Given the description of an element on the screen output the (x, y) to click on. 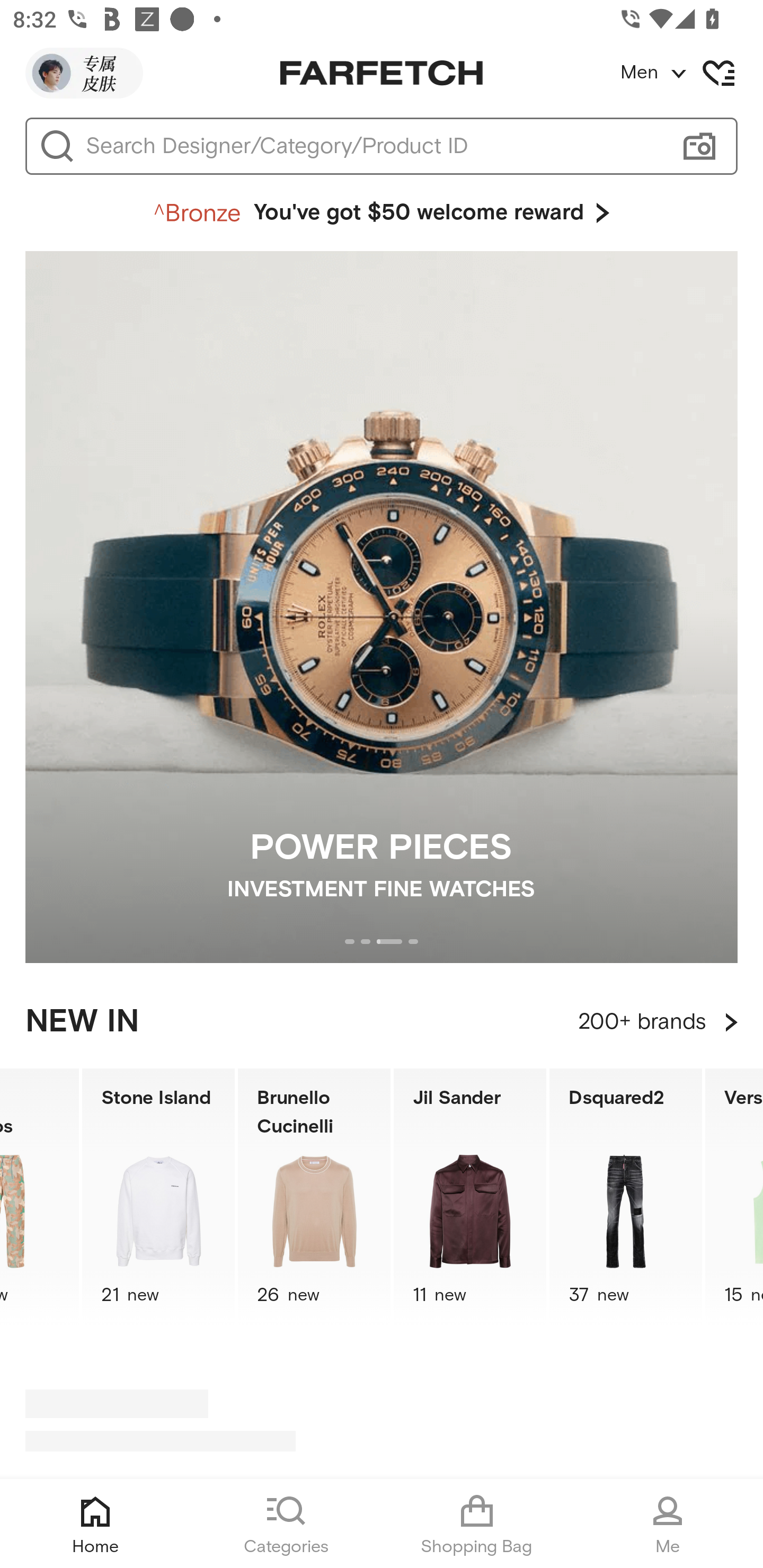
Men (691, 72)
Search Designer/Category/Product ID (373, 146)
You've got $50 welcome reward (381, 213)
NEW IN 200+ brands (381, 1021)
Stone Island 21  new (158, 1196)
Brunello Cucinelli 26  new (314, 1196)
Jil Sander 11  new (469, 1196)
Dsquared2 37  new (625, 1196)
Categories (285, 1523)
Shopping Bag (476, 1523)
Me (667, 1523)
